Given the description of an element on the screen output the (x, y) to click on. 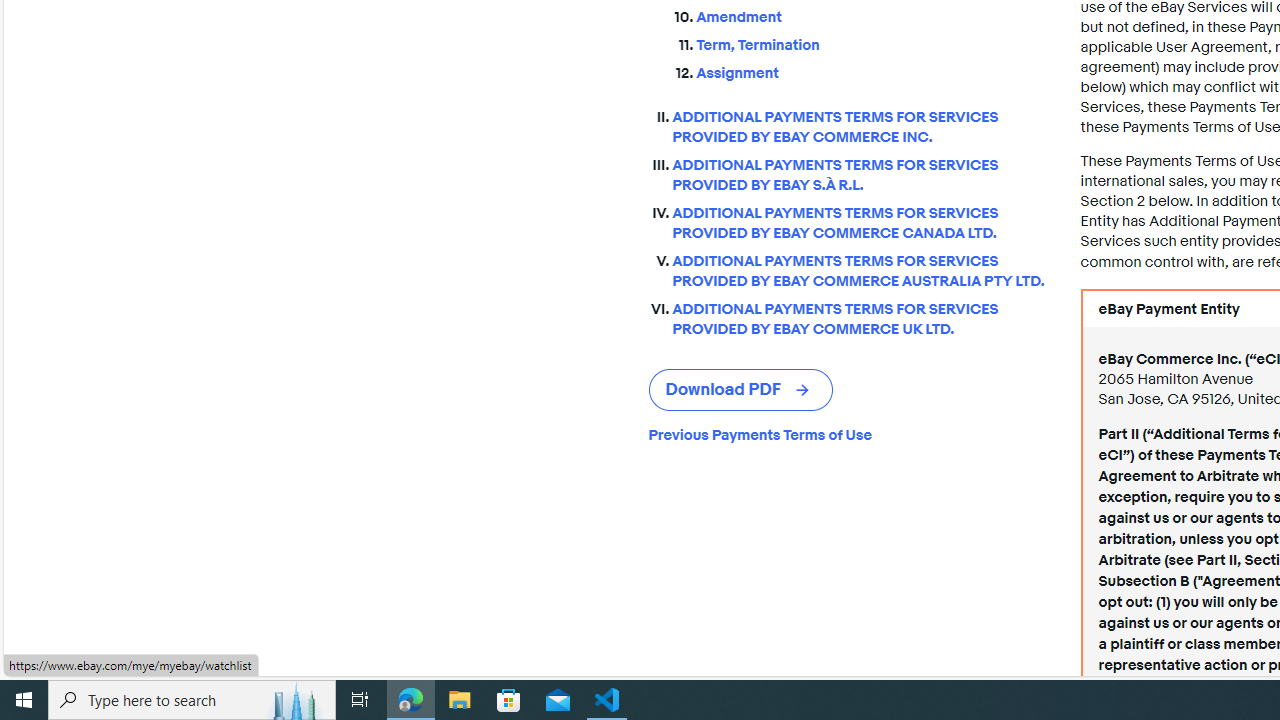
Amendment (872, 17)
Previous Payments Terms of Use (848, 434)
Download PDF  (740, 389)
Term, Termination (872, 45)
Class: ski-btn__arrow (804, 390)
Assignment (872, 73)
Term, Termination (872, 41)
